Given the description of an element on the screen output the (x, y) to click on. 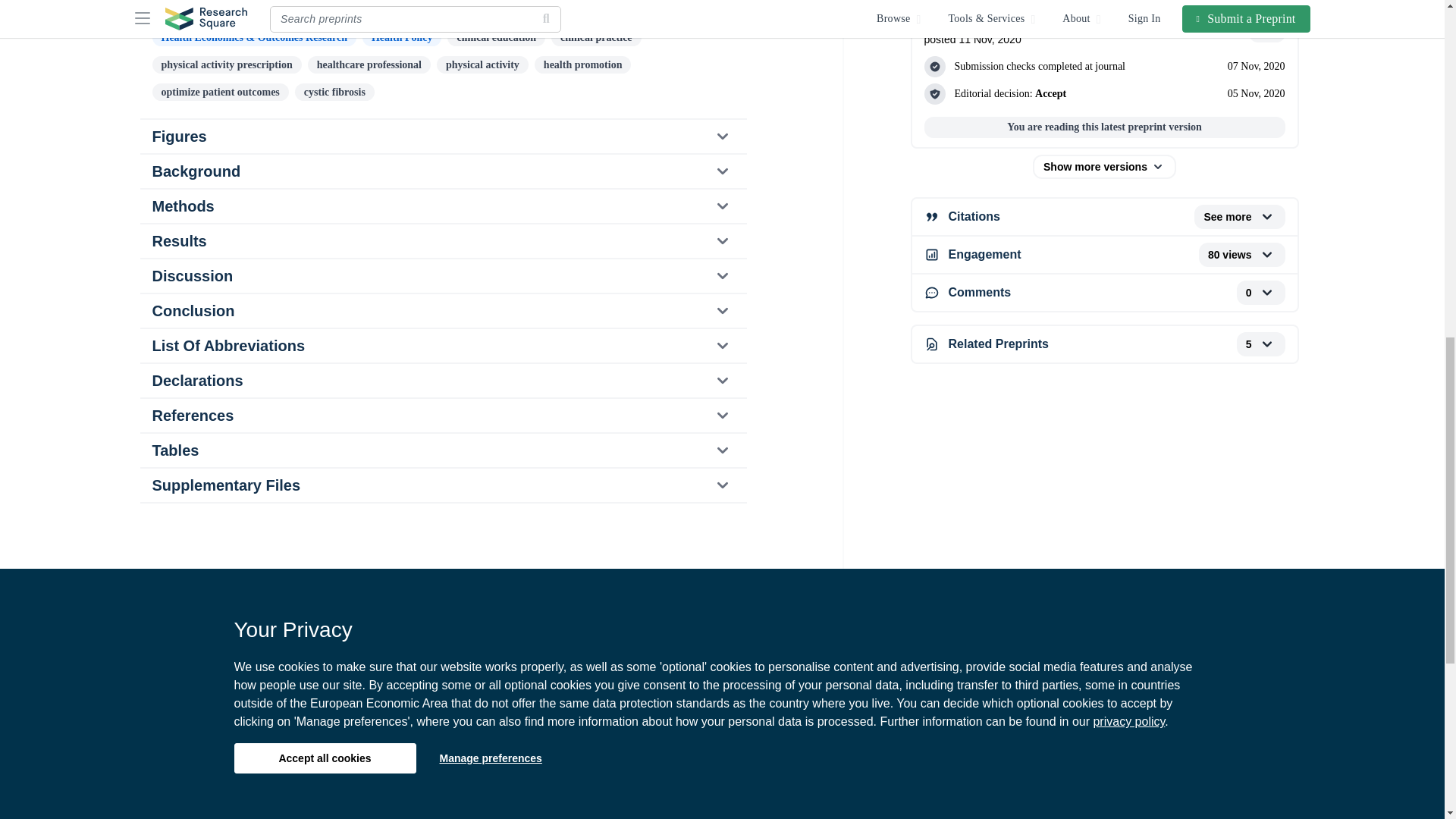
Results (442, 240)
Figures (442, 136)
Methods (442, 205)
Health Policy (402, 36)
Background (442, 171)
